Given the description of an element on the screen output the (x, y) to click on. 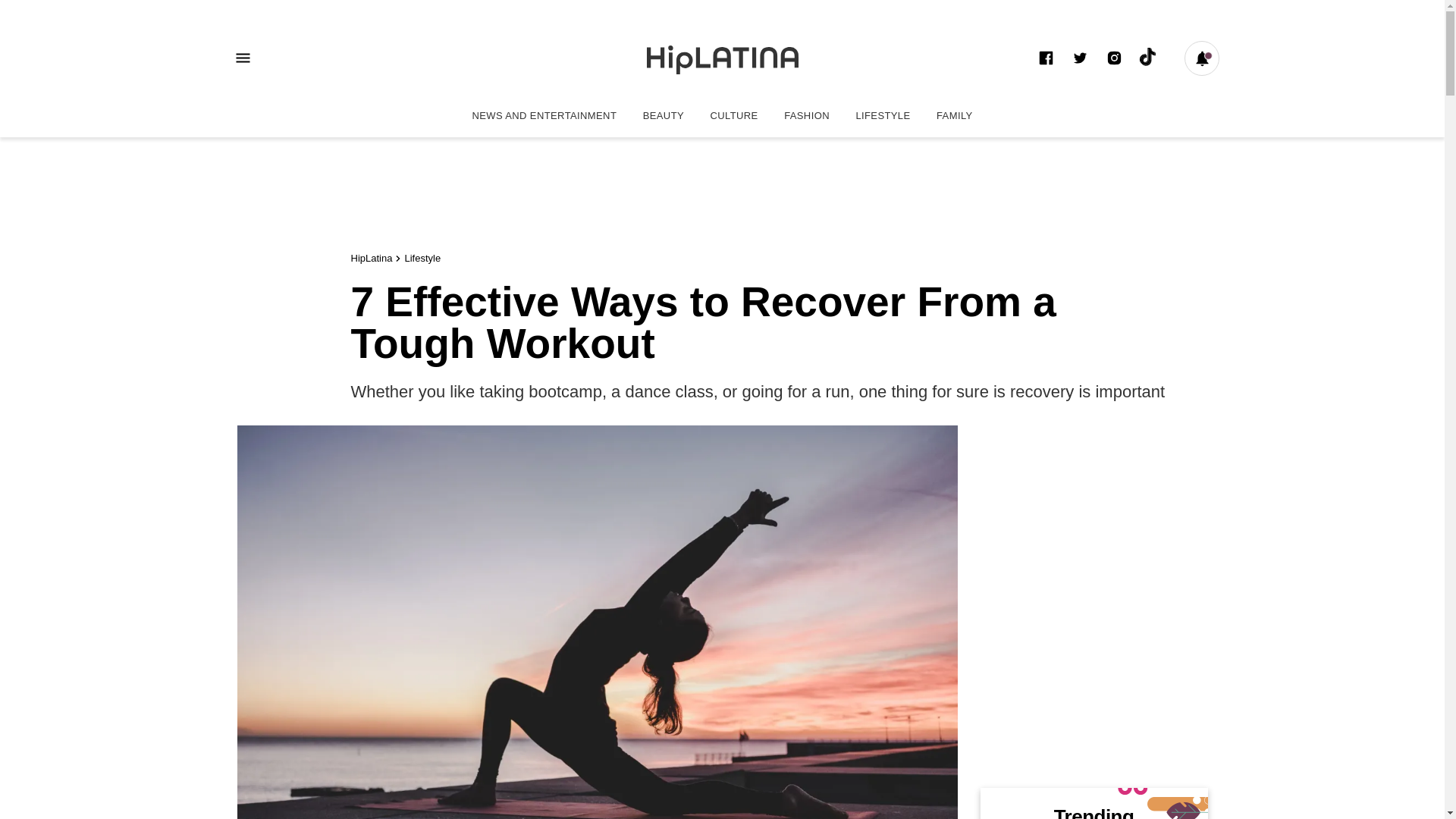
News and Entertainment (543, 115)
FAMILY (954, 115)
HipLatina (370, 258)
HipLatina (721, 57)
Follow HipLatina on twitter (397, 57)
LIFESTYLE (1079, 57)
Follow HipLatina on Instagram (882, 115)
Beauty (1113, 57)
Lifestyle (663, 115)
